Given the description of an element on the screen output the (x, y) to click on. 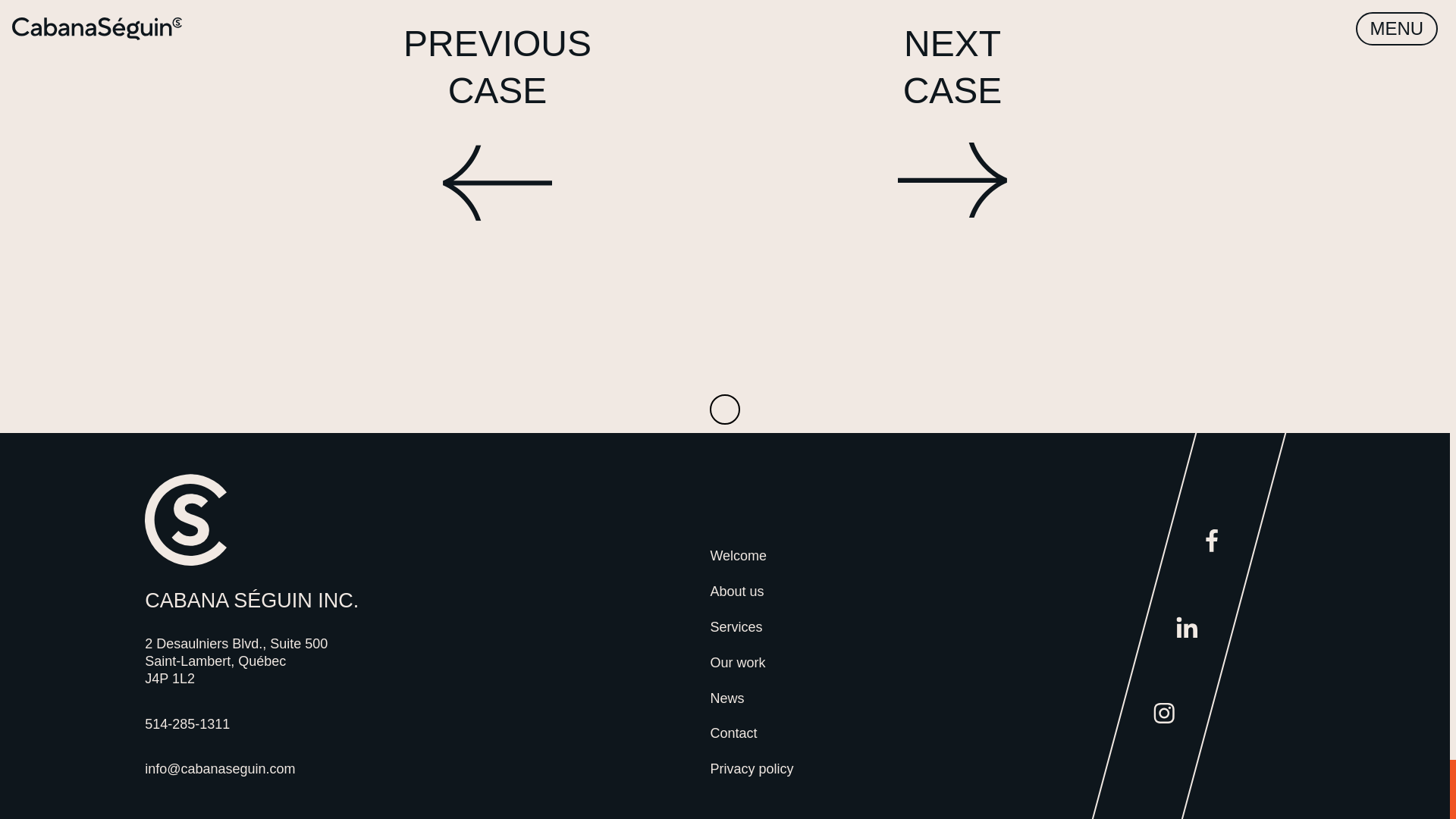
Welcome (751, 556)
Contact (751, 733)
514-285-1311 (751, 662)
News (251, 724)
About us (751, 698)
Privacy policy (751, 591)
Services (751, 769)
